Given the description of an element on the screen output the (x, y) to click on. 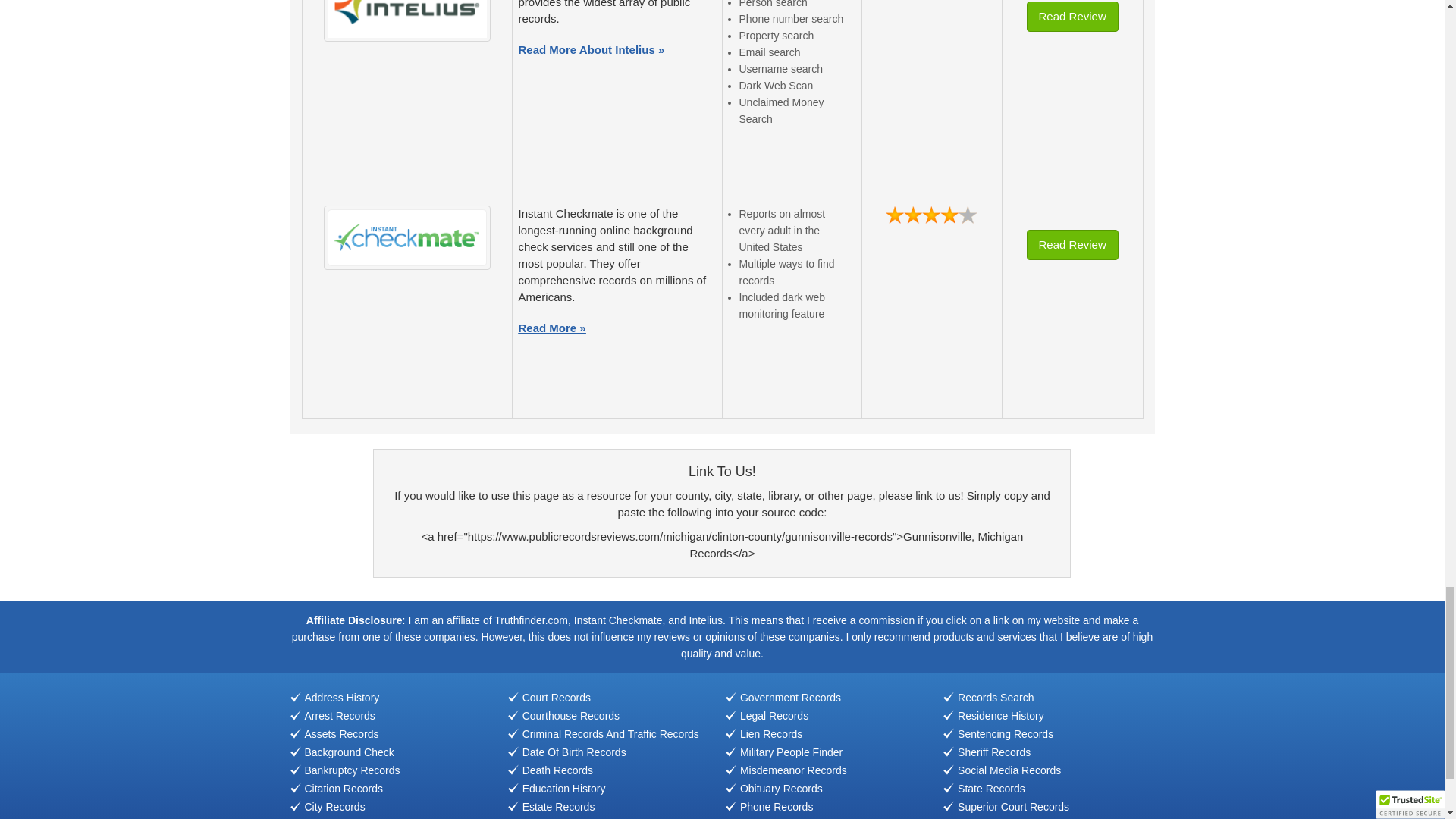
Intelius (406, 18)
Instant Checkmate (406, 237)
